Given the description of an element on the screen output the (x, y) to click on. 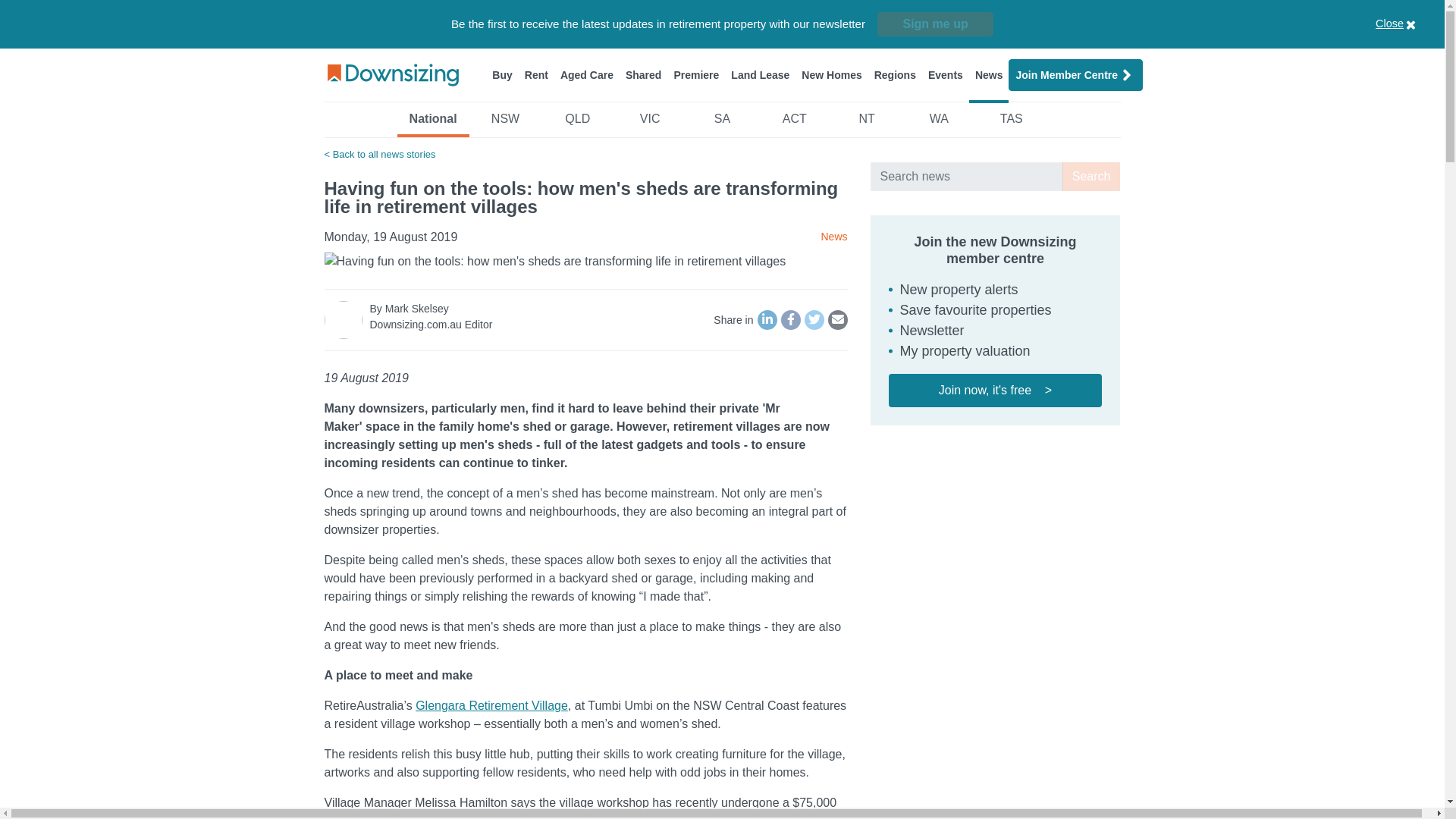
Join Member Centre (1075, 74)
Close (1414, 24)
TAS (1010, 123)
QLD (576, 123)
SA (721, 123)
Search (1091, 176)
Events (945, 74)
Premiere (695, 74)
VIC (648, 123)
Land Lease (759, 74)
Sign me up (934, 24)
Aged Care (587, 74)
ACT (793, 123)
Buy (502, 74)
Regions (894, 74)
